Given the description of an element on the screen output the (x, y) to click on. 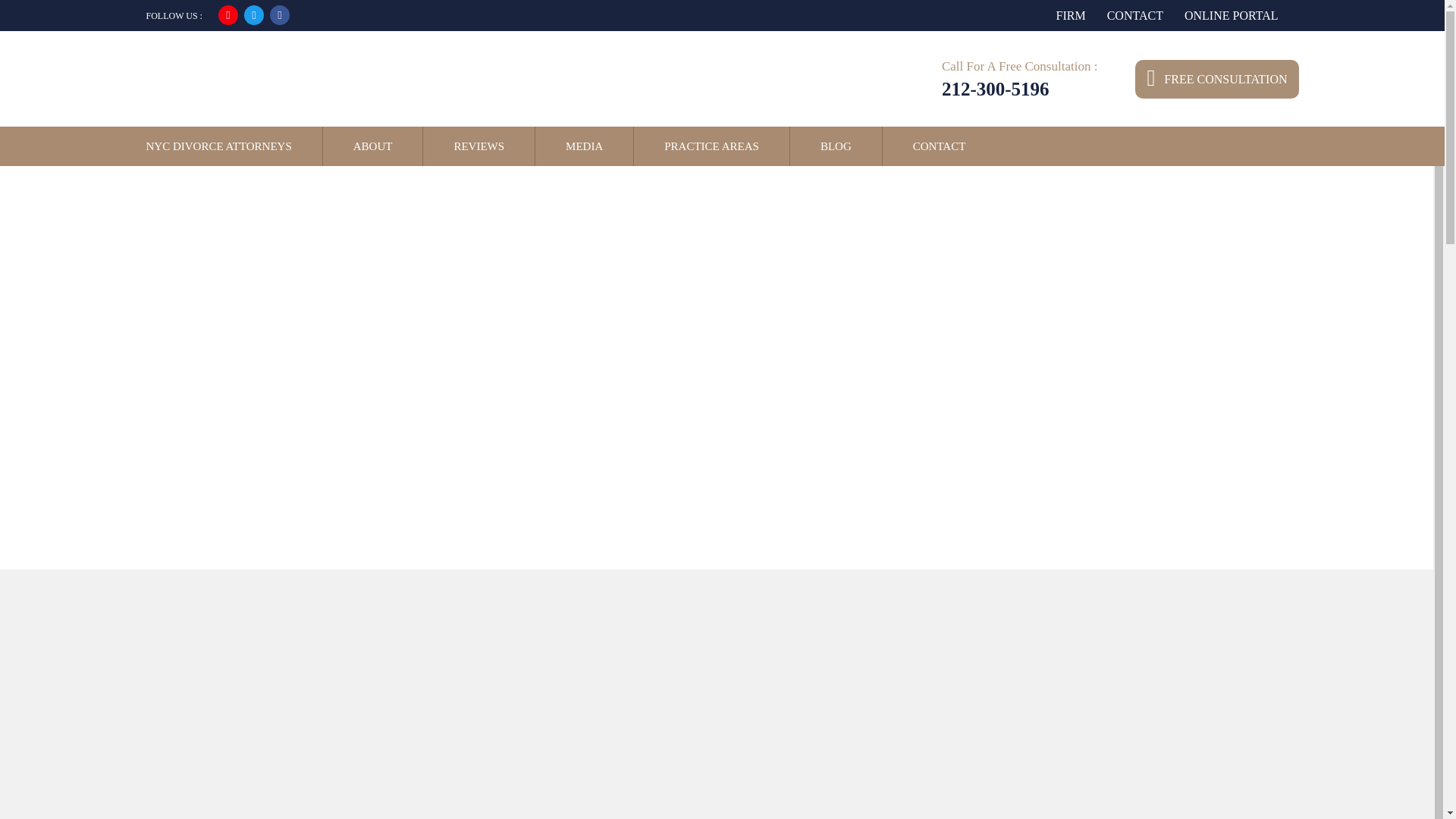
MEDIA (584, 146)
FIRM (1070, 15)
ABOUT (373, 146)
PRACTICE AREAS (711, 146)
FREE CONSULTATION (1216, 77)
BLOG (836, 146)
212-300-5196 (995, 88)
CONTACT (938, 146)
NYC DIVORCE ATTORNEYS (218, 146)
REVIEWS (479, 146)
ONLINE PORTAL (1230, 15)
CONTACT (1134, 15)
